Given the description of an element on the screen output the (x, y) to click on. 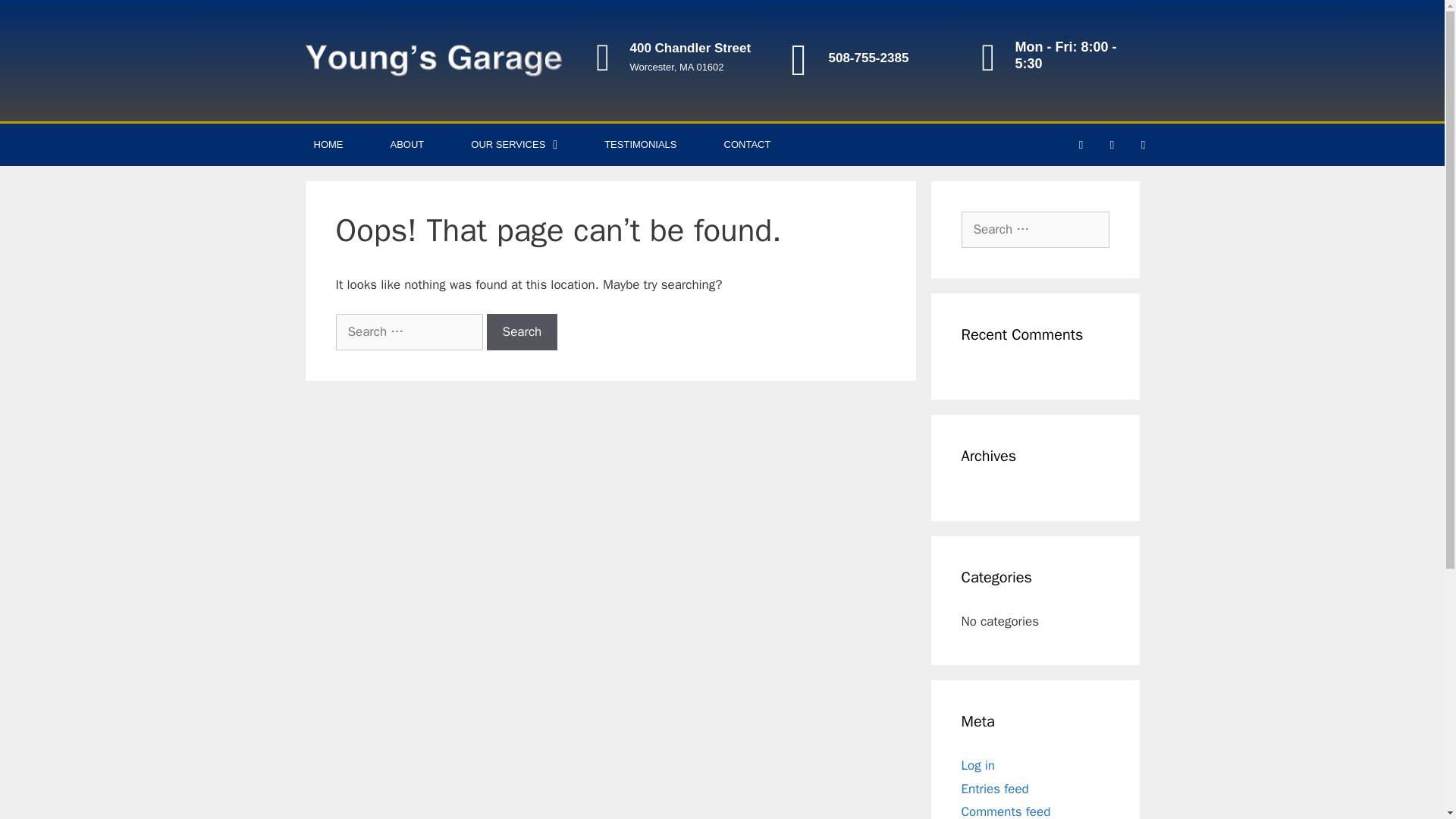
OUR SERVICES (513, 144)
TESTIMONIALS (640, 144)
ABOUT (407, 144)
Comments feed (1005, 811)
CONTACT (747, 144)
Entries feed (994, 788)
Search (521, 331)
HOME (327, 144)
Search (35, 18)
Search (521, 331)
Search for: (407, 331)
Search for: (1034, 229)
Log in (977, 765)
Search (521, 331)
